Given the description of an element on the screen output the (x, y) to click on. 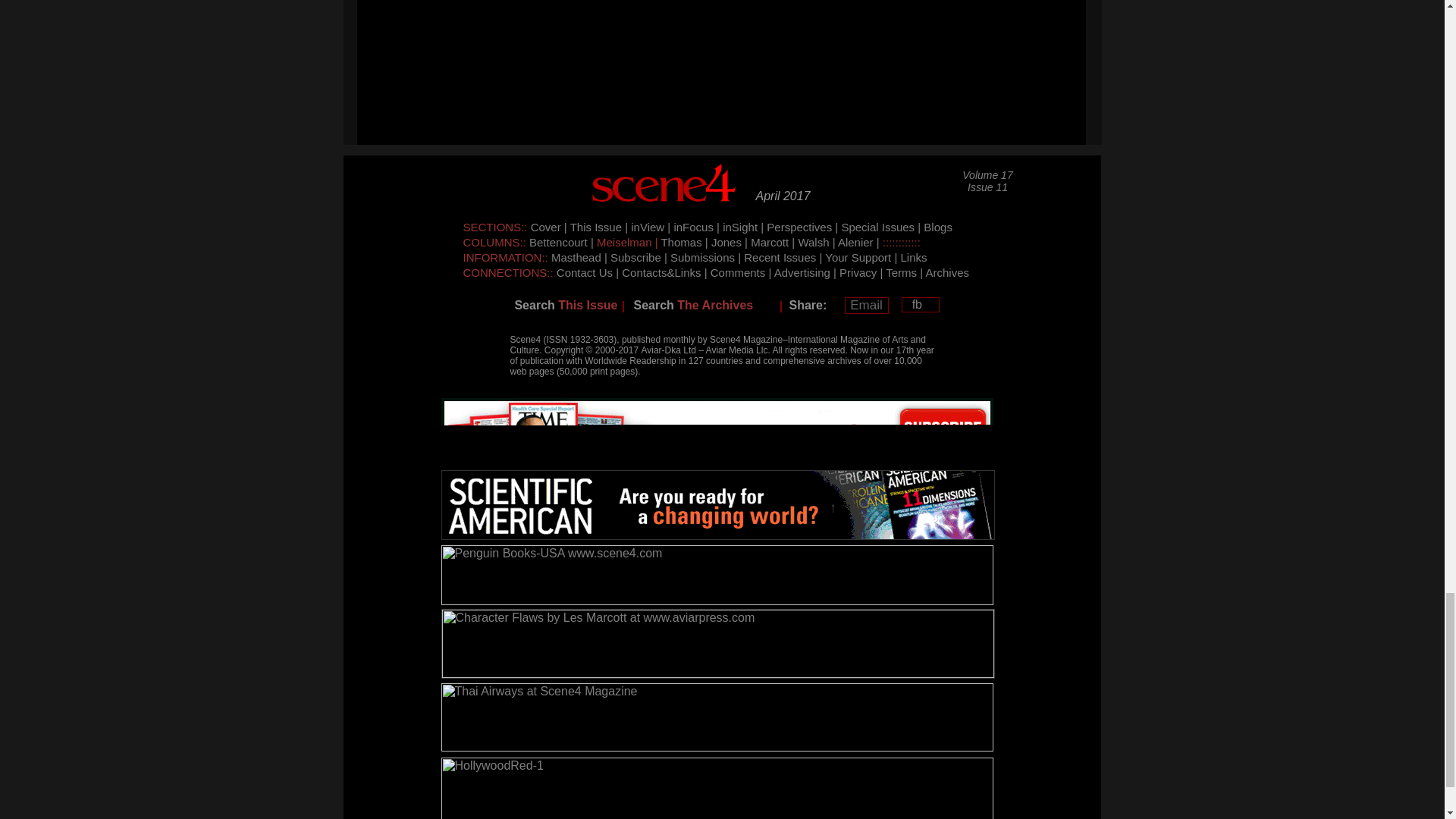
Scientific American - www.scene4.com (717, 504)
HollywoodRed-1 (716, 788)
Blogs (937, 226)
Archives (947, 272)
Sc4-solo--logo62h (665, 186)
Email (866, 305)
Character Flaws by Les Marcott at www.aviarpress.com (717, 643)
The Archives (714, 305)
Time-0716 (716, 432)
Penguin Books-USA www.scene4.com (716, 575)
